Given the description of an element on the screen output the (x, y) to click on. 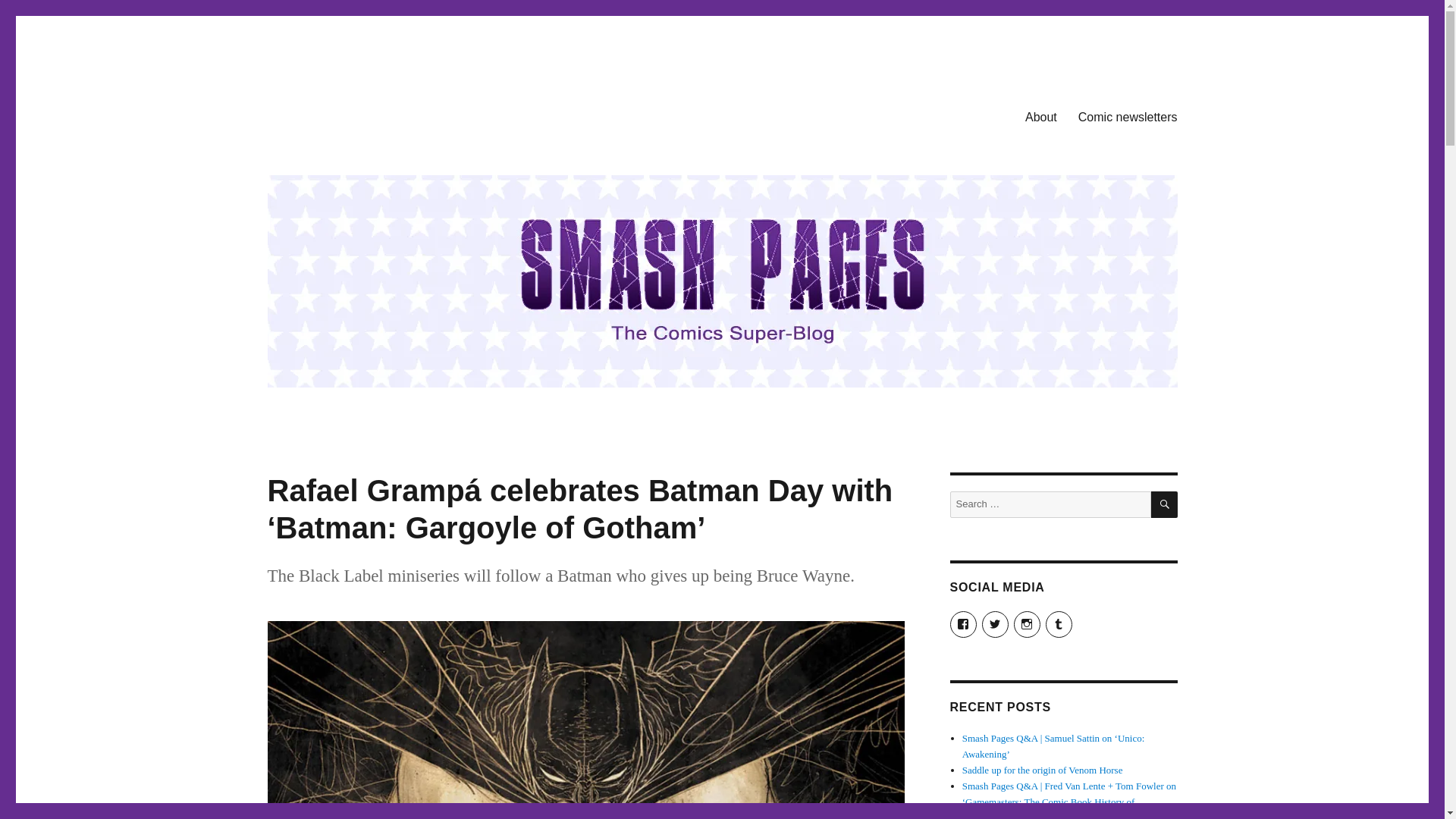
About (1040, 116)
SEARCH (1164, 504)
Comic newsletters (1127, 116)
SMASH PAGES (344, 114)
